Given the description of an element on the screen output the (x, y) to click on. 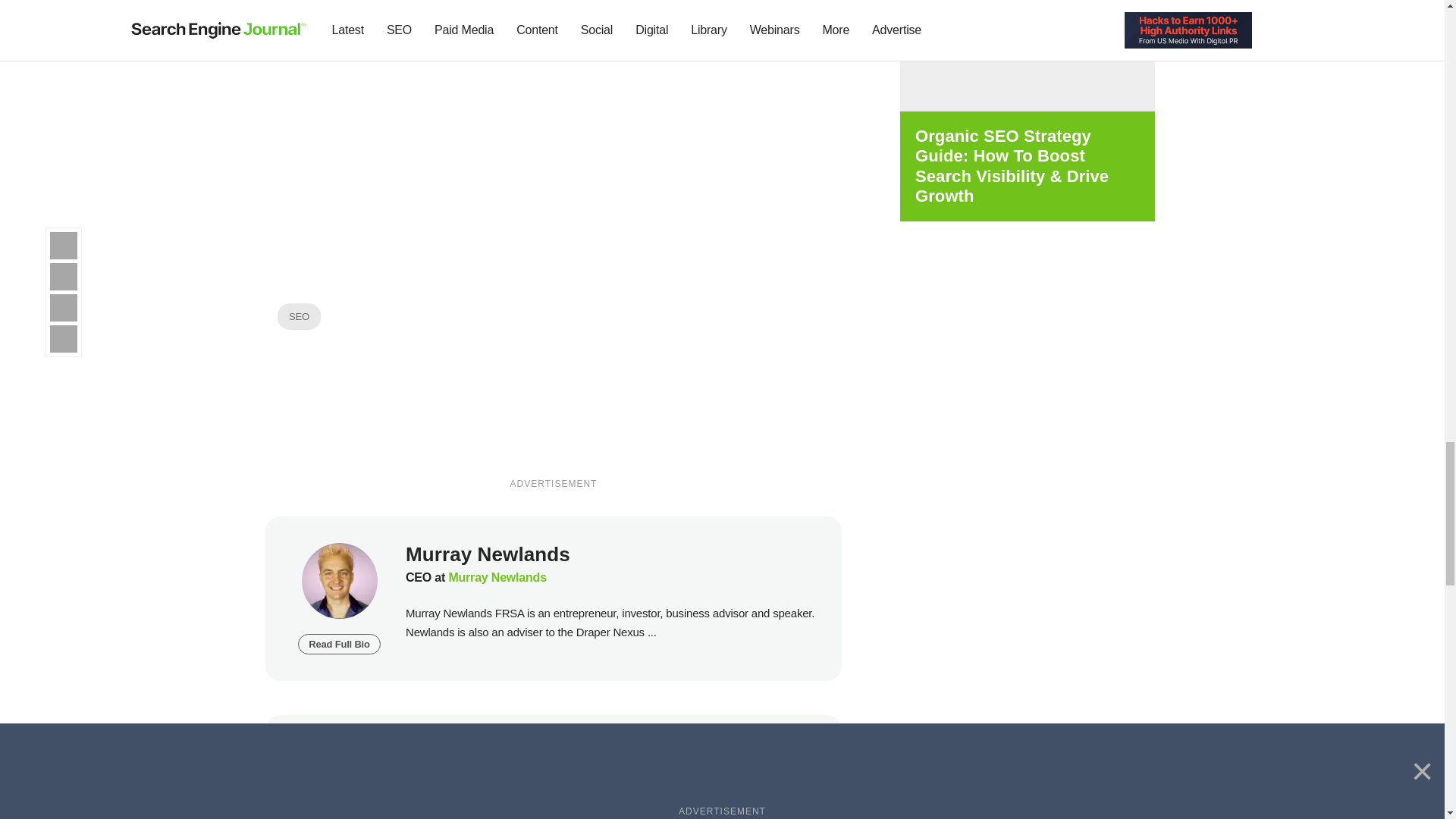
Organize And Retarget Your Data With Perfect Audience (552, 164)
